Given the description of an element on the screen output the (x, y) to click on. 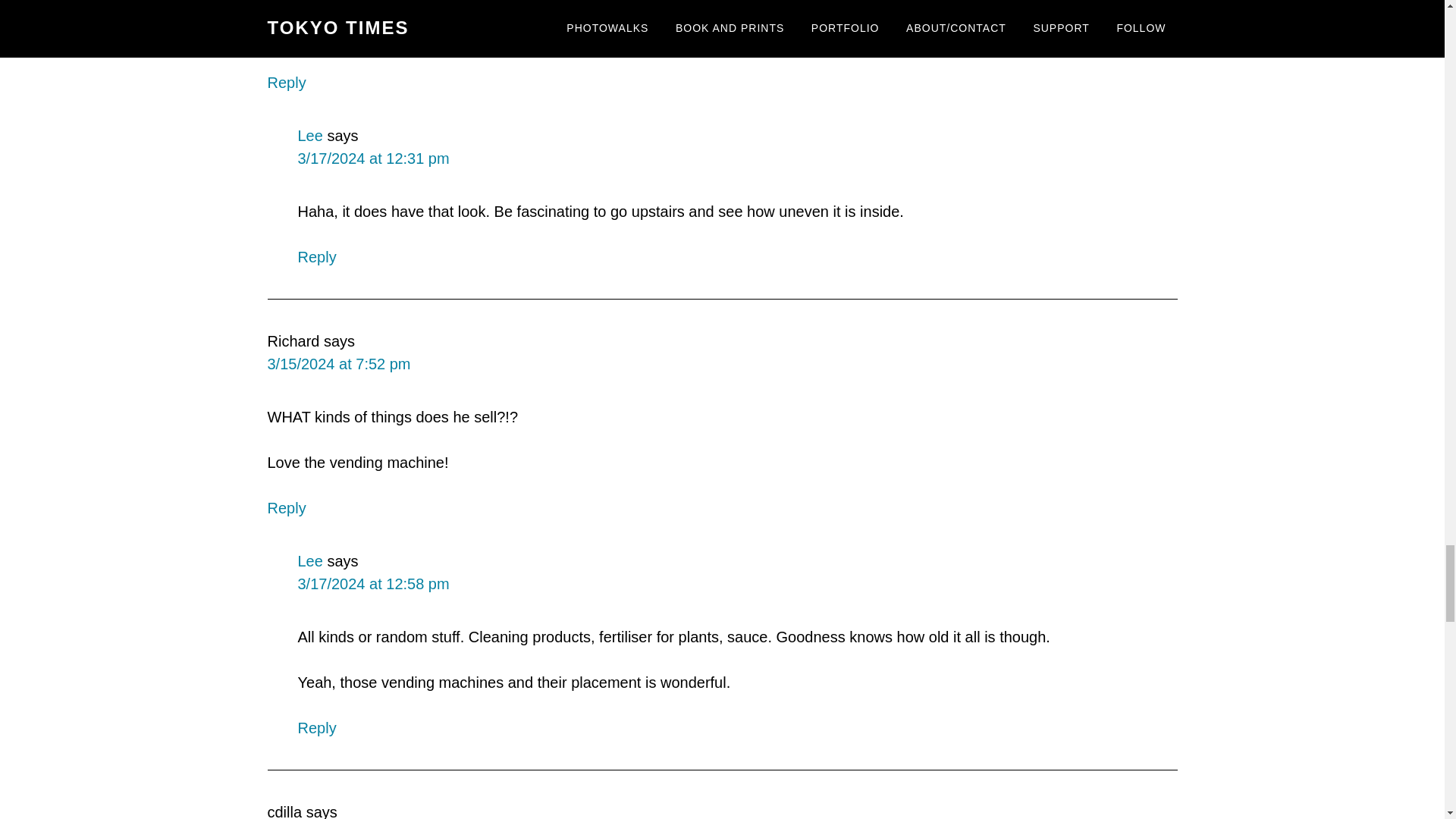
Reply (316, 256)
Reply (316, 727)
Lee (309, 135)
Reply (285, 82)
Reply (285, 507)
Lee (309, 560)
